Given the description of an element on the screen output the (x, y) to click on. 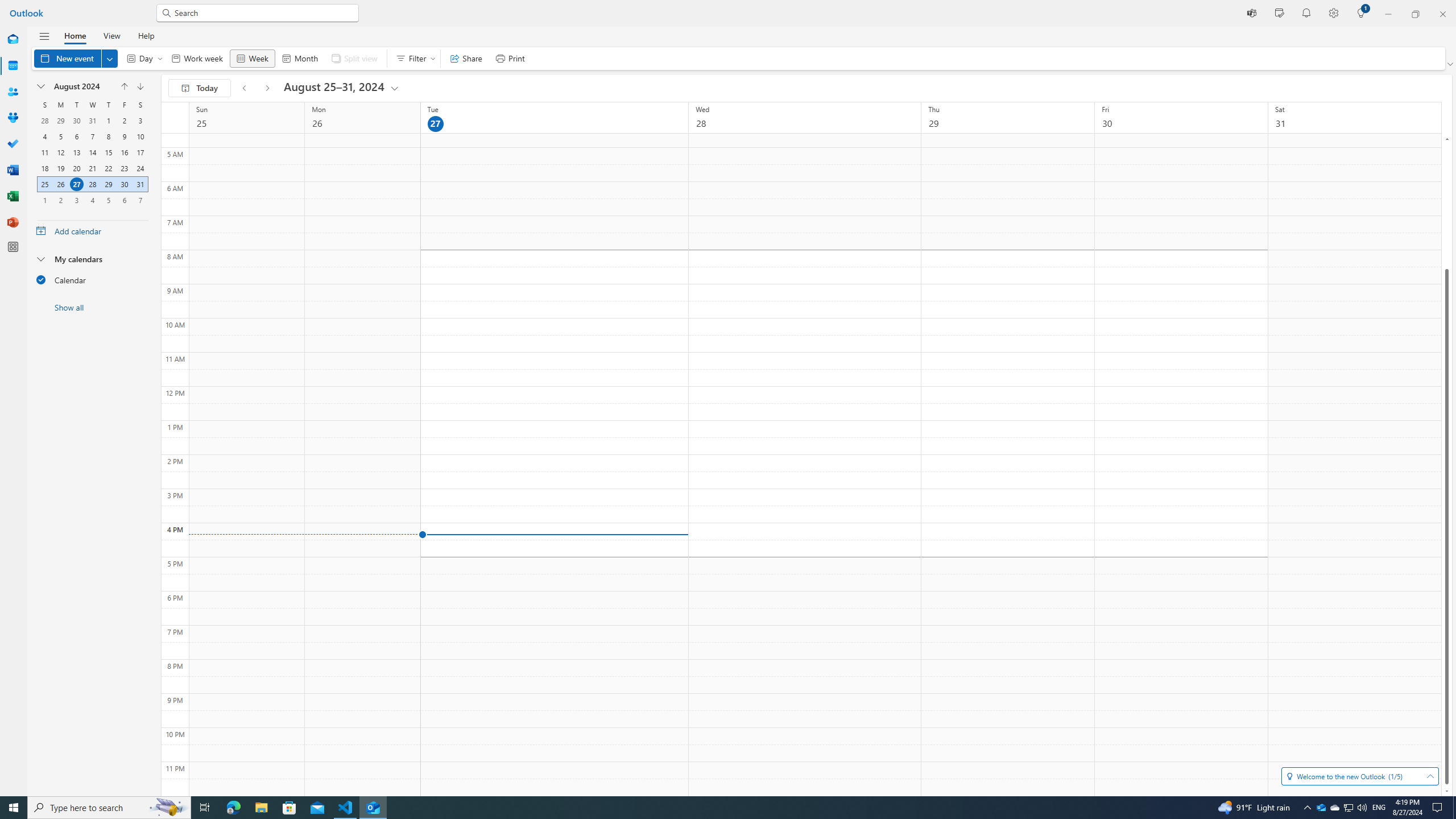
Wednesday (92, 104)
Add calendar (92, 230)
15, August, 2024 (108, 152)
30, July, 2024 (76, 120)
26, August, 2024 (59, 183)
13, August, 2024 (75, 151)
7, August, 2024 (92, 136)
Share (465, 58)
30, August, 2024 (124, 184)
7, September, 2024 (140, 200)
5, August, 2024 (59, 136)
Groups (12, 118)
16, August, 2024 (124, 152)
People (12, 92)
